Given the description of an element on the screen output the (x, y) to click on. 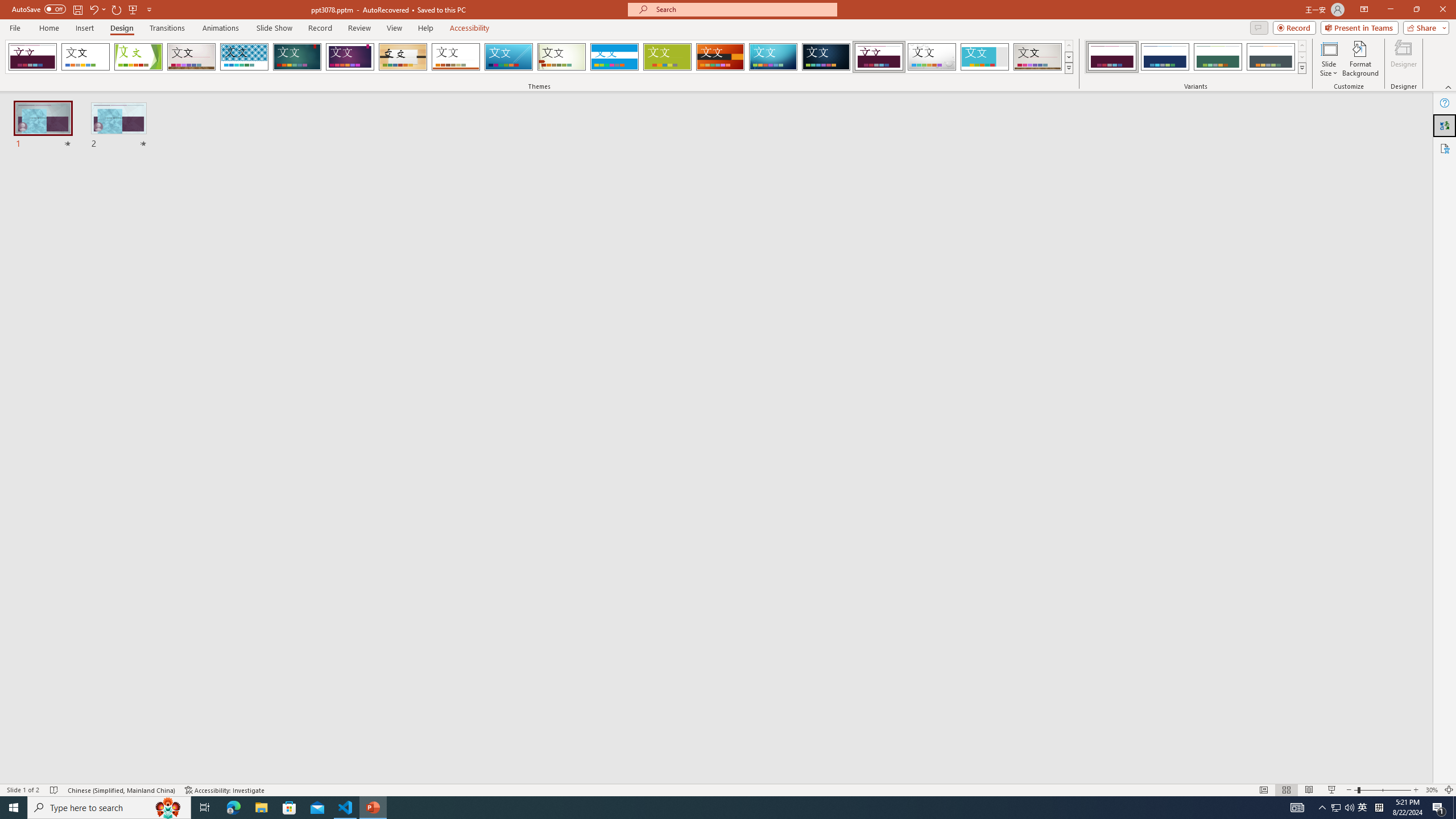
Damask (826, 56)
Slice (508, 56)
